Given the description of an element on the screen output the (x, y) to click on. 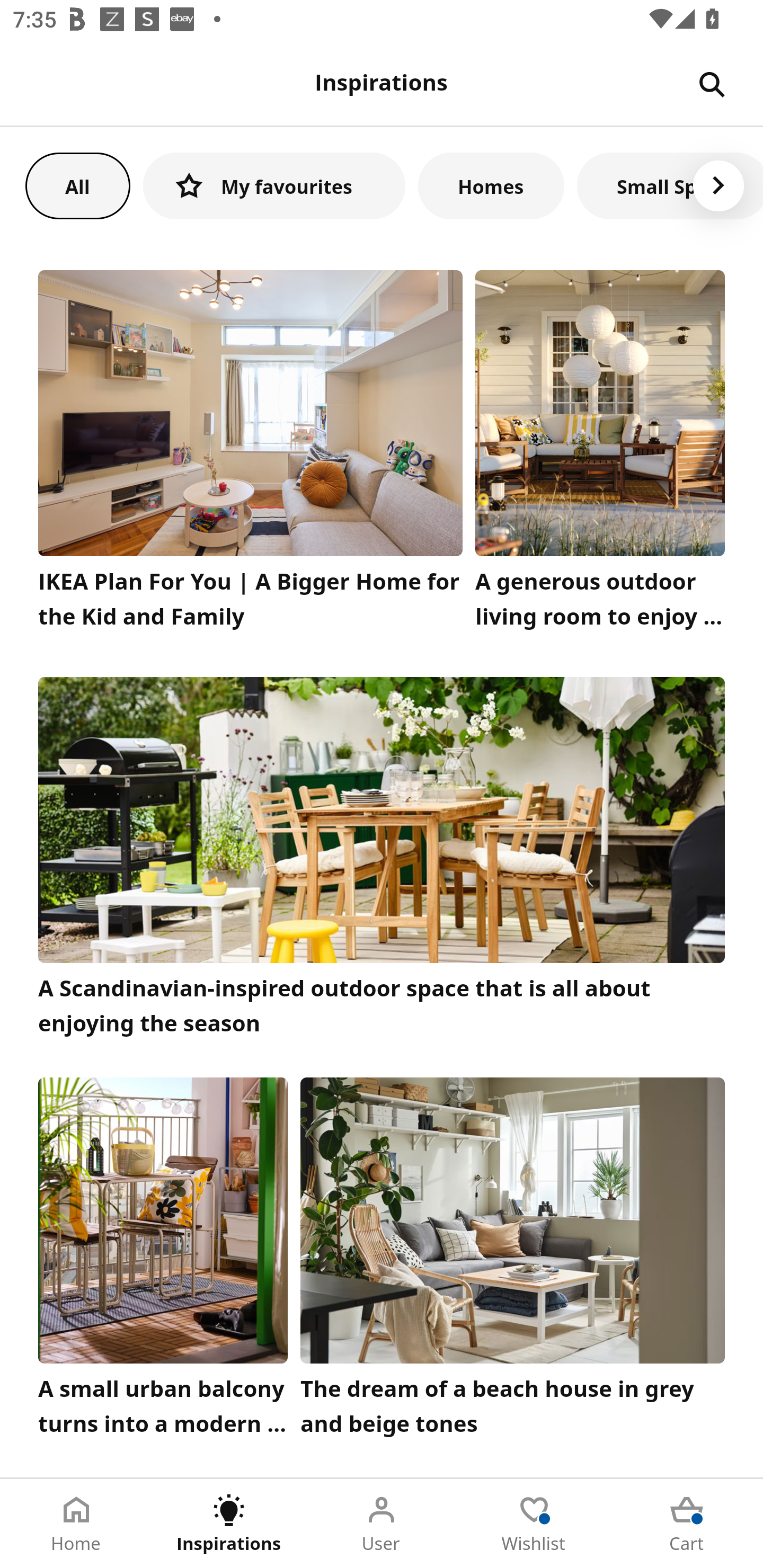
All (77, 185)
My favourites (274, 185)
Homes (491, 185)
The dream of a beach house in grey and beige tones (512, 1261)
Home
Tab 1 of 5 (76, 1522)
Inspirations
Tab 2 of 5 (228, 1522)
User
Tab 3 of 5 (381, 1522)
Wishlist
Tab 4 of 5 (533, 1522)
Cart
Tab 5 of 5 (686, 1522)
